Given the description of an element on the screen output the (x, y) to click on. 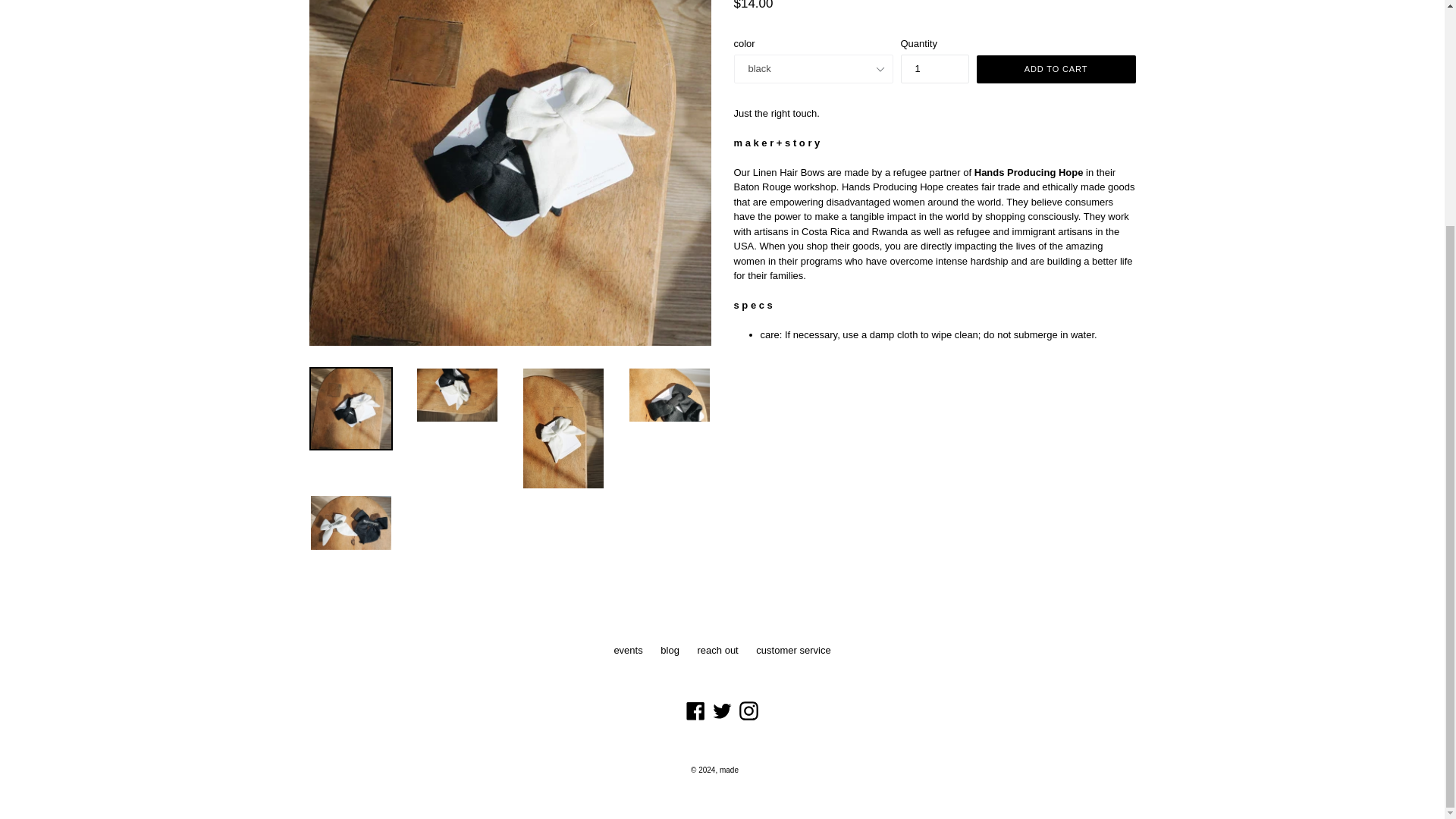
made on Facebook (695, 710)
made on Instagram (748, 710)
1 (935, 68)
made on Twitter (721, 710)
